Given the description of an element on the screen output the (x, y) to click on. 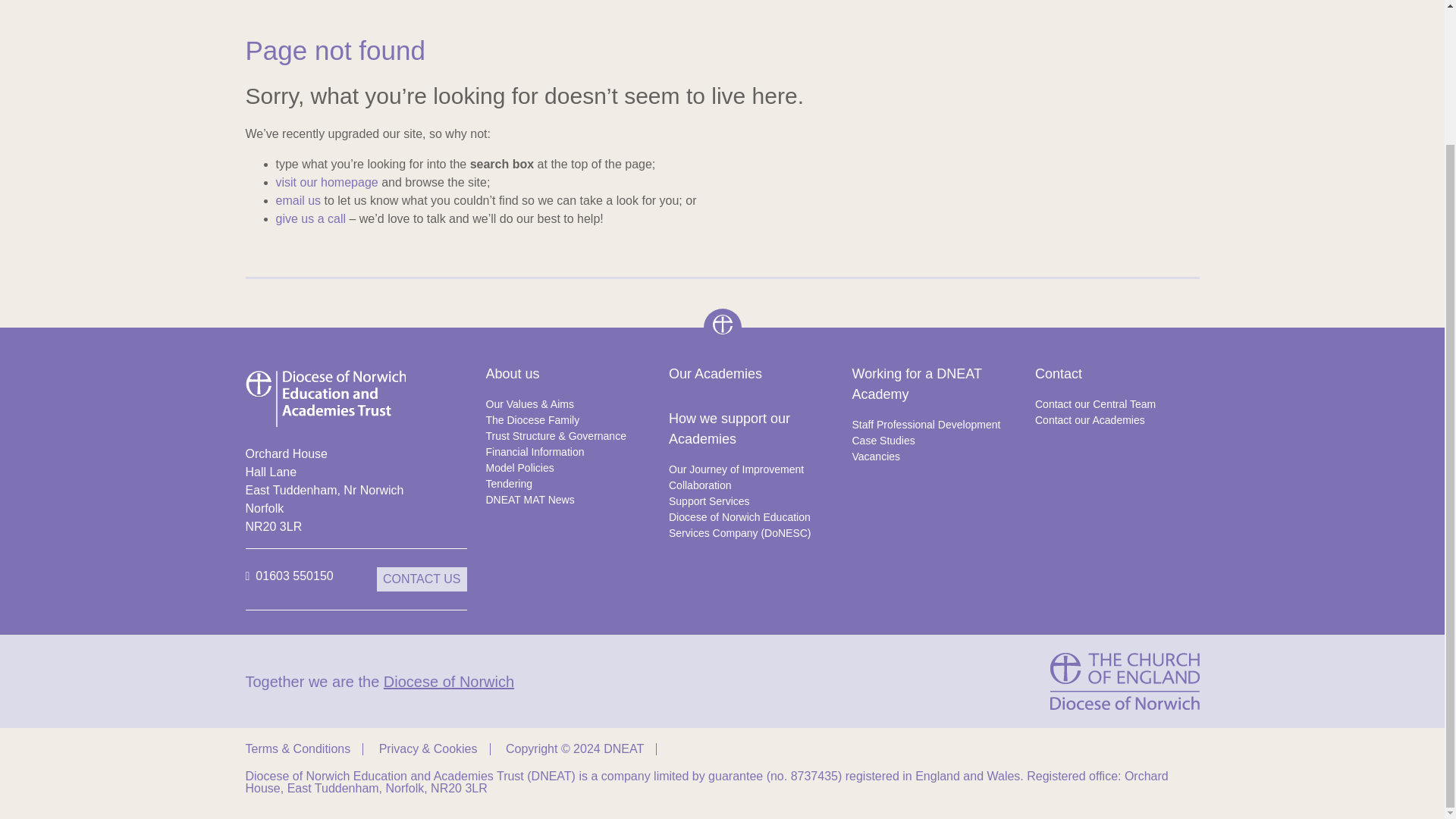
DNEAT (326, 397)
CONTACT US (422, 579)
Financial Information (568, 452)
The Diocese Family (568, 420)
email us (298, 200)
01603 550150 (289, 579)
About us (568, 373)
DNEAT (722, 324)
give us a call (311, 218)
Tendering (568, 483)
Contact Us (422, 579)
Call Us (289, 579)
Model Policies (568, 467)
visit our homepage (327, 182)
